Given the description of an element on the screen output the (x, y) to click on. 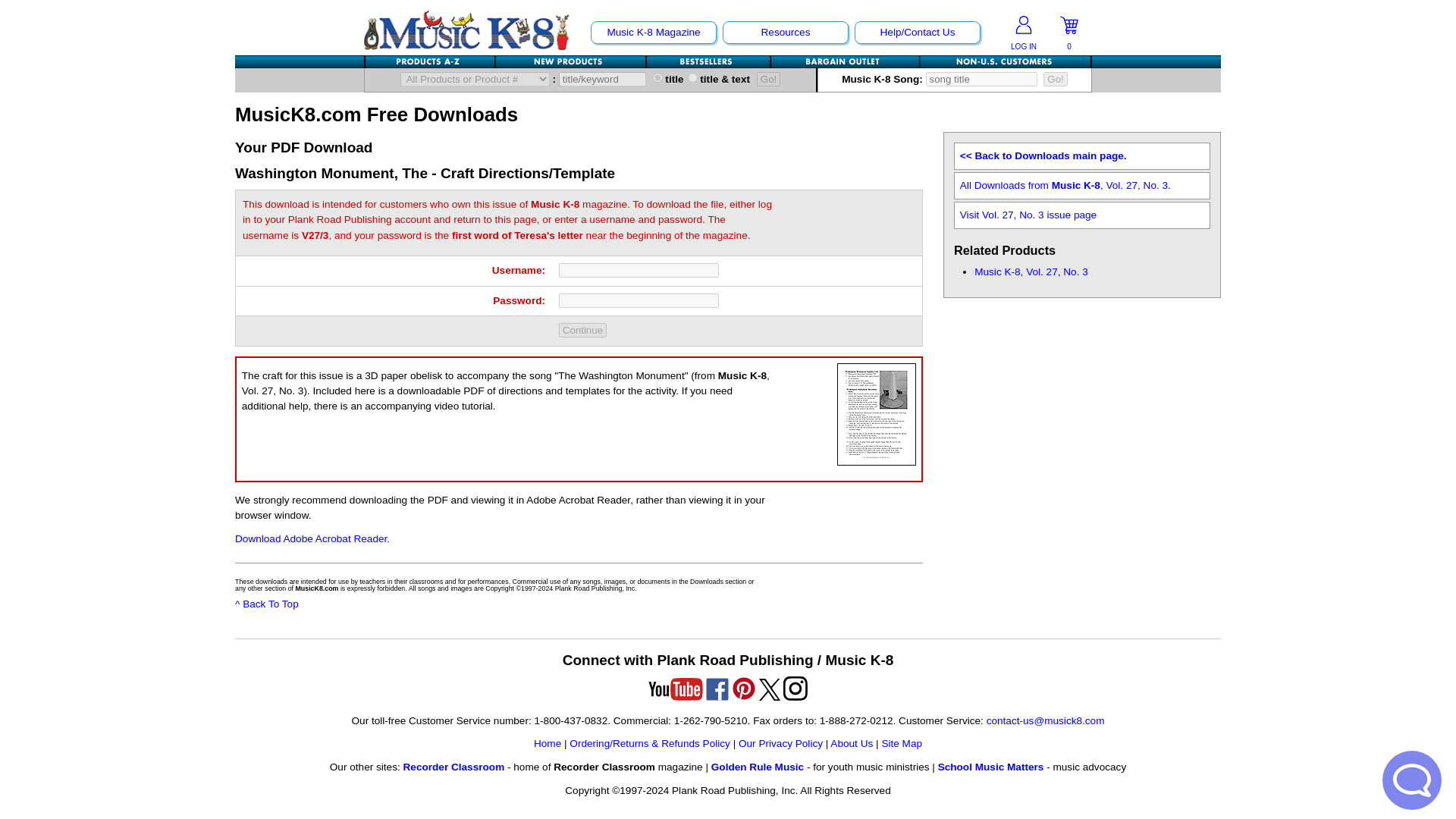
Continue (583, 329)
MusicK8.com Worldwide (1005, 61)
both (692, 77)
Alphabetical Listing (430, 61)
Bargain Outlet (845, 61)
Instagram (795, 688)
Pinterest (743, 688)
Bestsellers (708, 61)
Facebook (717, 689)
Music K-8 Magazine (653, 32)
